Given the description of an element on the screen output the (x, y) to click on. 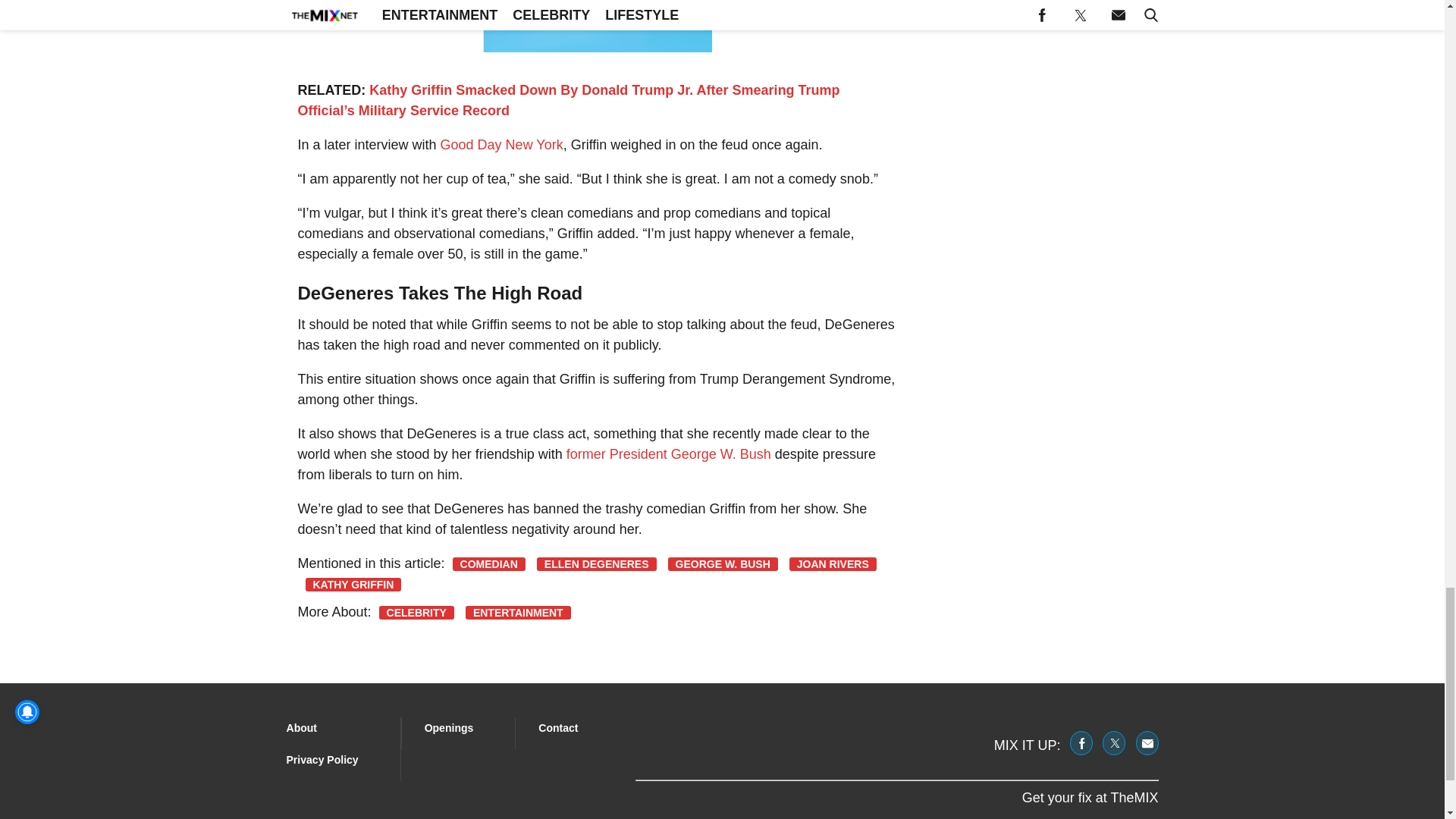
KATHY GRIFFIN (352, 584)
CELEBRITY (416, 612)
GEORGE W. BUSH (722, 563)
ELLEN DEGENERES (596, 563)
JOAN RIVERS (832, 563)
ENTERTAINMENT (517, 612)
COMEDIAN (488, 563)
Good Day New York (502, 144)
former President George W. Bush (668, 453)
